Given the description of an element on the screen output the (x, y) to click on. 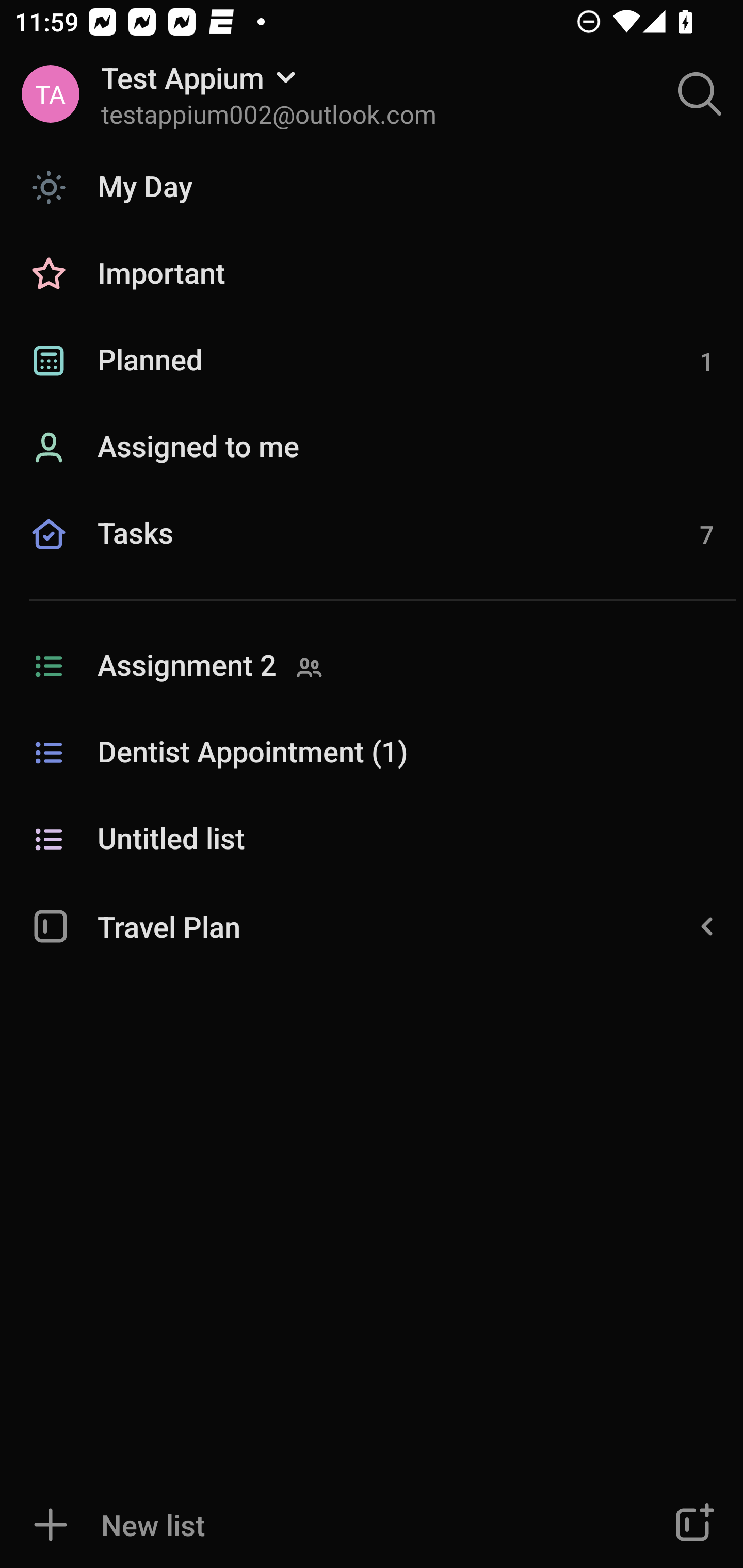
Enter search (699, 93)
My Day, 0 tasks My Day (371, 187)
Important, 0 tasks Important (371, 274)
Planned, 1 tasks Planned 1 (371, 361)
Assigned to me, 0 tasks Assigned to me (371, 447)
Tasks, 7 tasks Tasks 7 (371, 556)
Shared list. Assignment 2 Assignment 2 Shared list (371, 666)
Dentist Appointment (1) (371, 753)
Untitled list (371, 839)
Group Travel Plan, contains 0 lists Travel Plan (371, 925)
New list (312, 1524)
Create group (692, 1524)
